Given the description of an element on the screen output the (x, y) to click on. 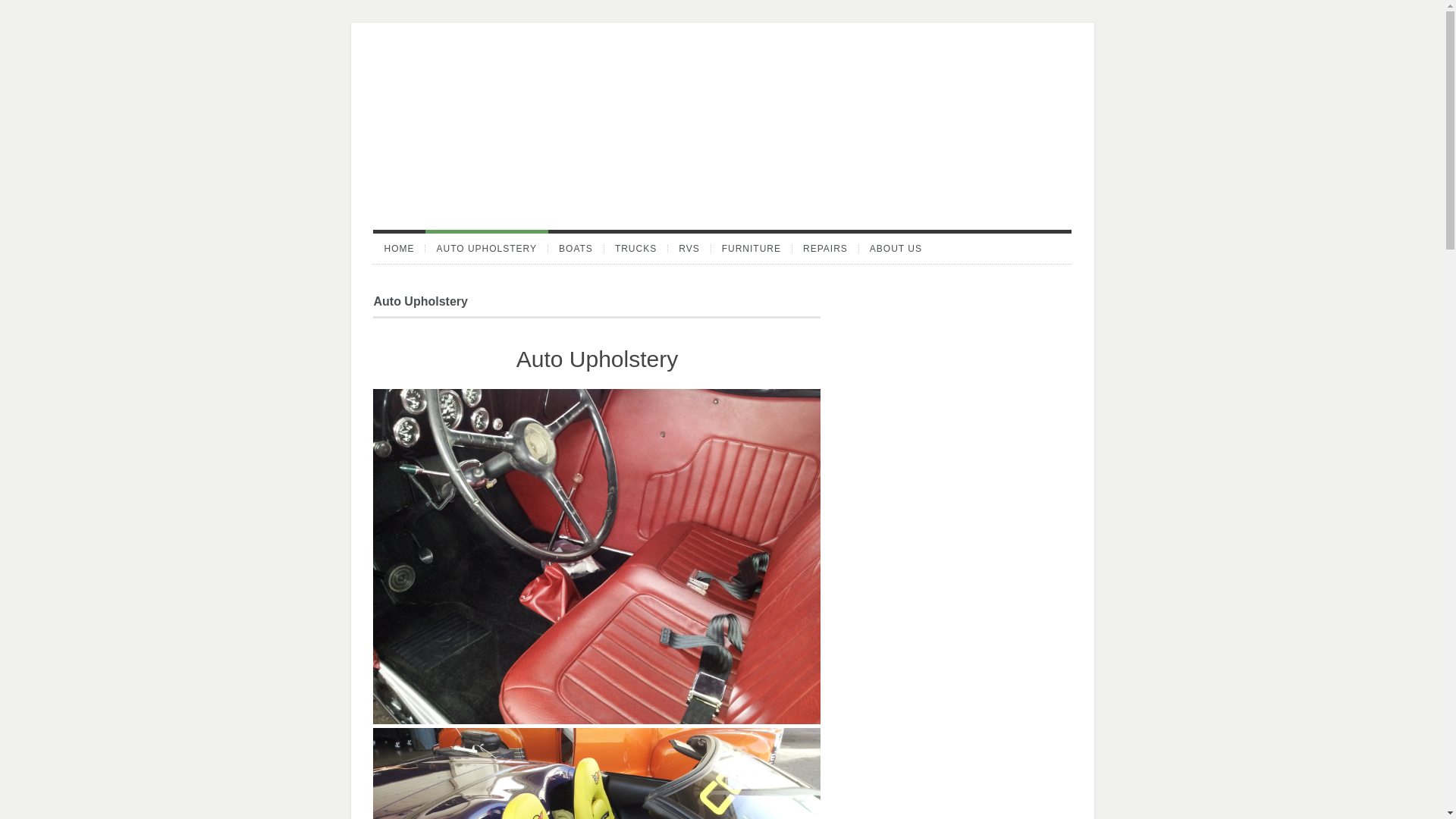
BOATS (576, 248)
FURNITURE (751, 248)
Auto upholstery.jpg (596, 773)
AUTO UPHOLSTERY (486, 248)
ABOUT US (896, 248)
REPAIRS (825, 248)
HOME (398, 248)
RVS (689, 248)
TRUCKS (636, 248)
